Given the description of an element on the screen output the (x, y) to click on. 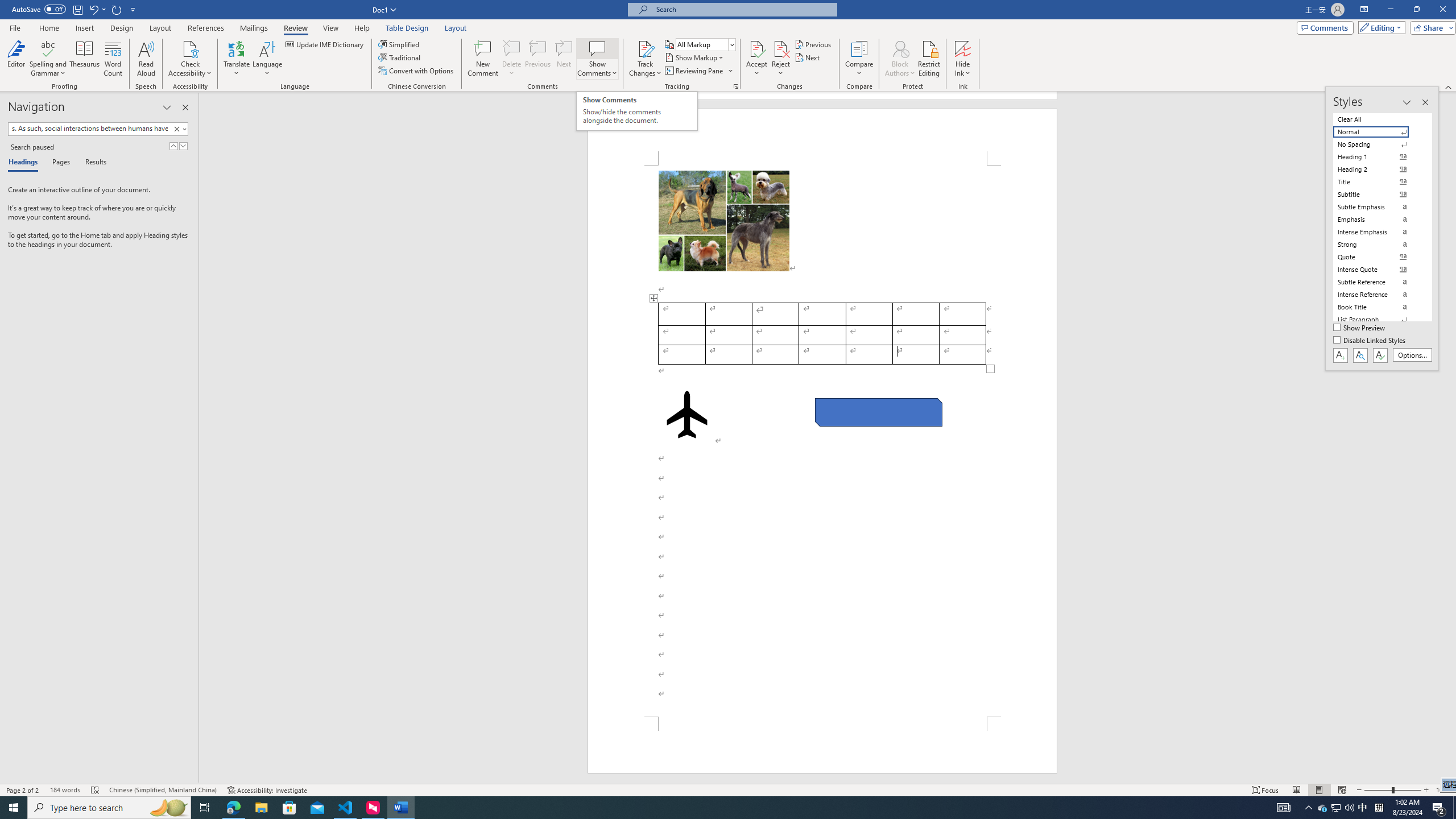
Class: NetUIScrollBar (1450, 437)
Accept and Move to Next (756, 48)
Zoom 104% (1443, 790)
Traditional (400, 56)
Class: NetUIButton (1380, 355)
Display for Review (705, 44)
Show Comments (597, 58)
Normal (1377, 131)
Clear (178, 128)
Pages (59, 162)
